Given the description of an element on the screen output the (x, y) to click on. 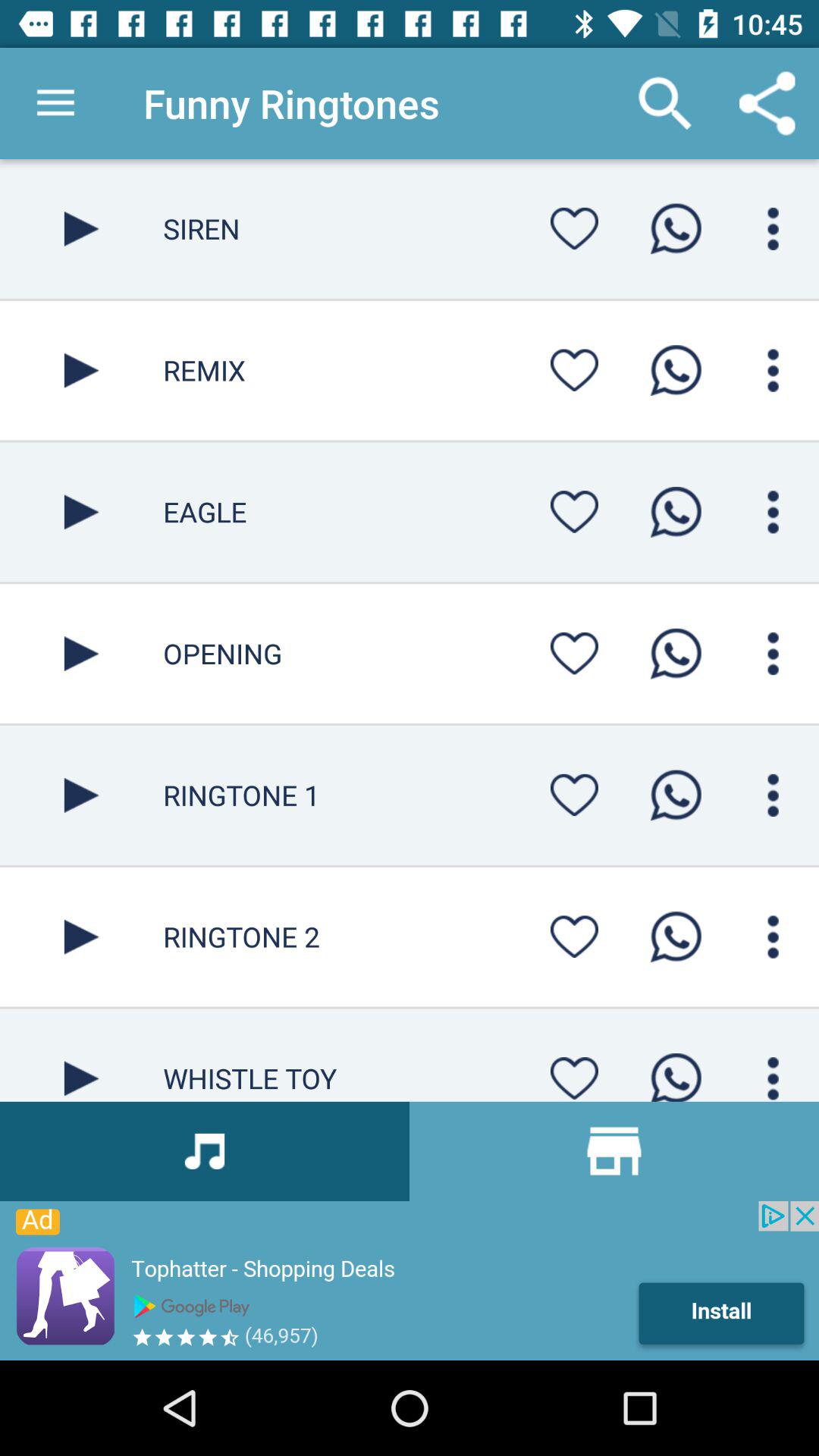
arrow option (81, 653)
